Given the description of an element on the screen output the (x, y) to click on. 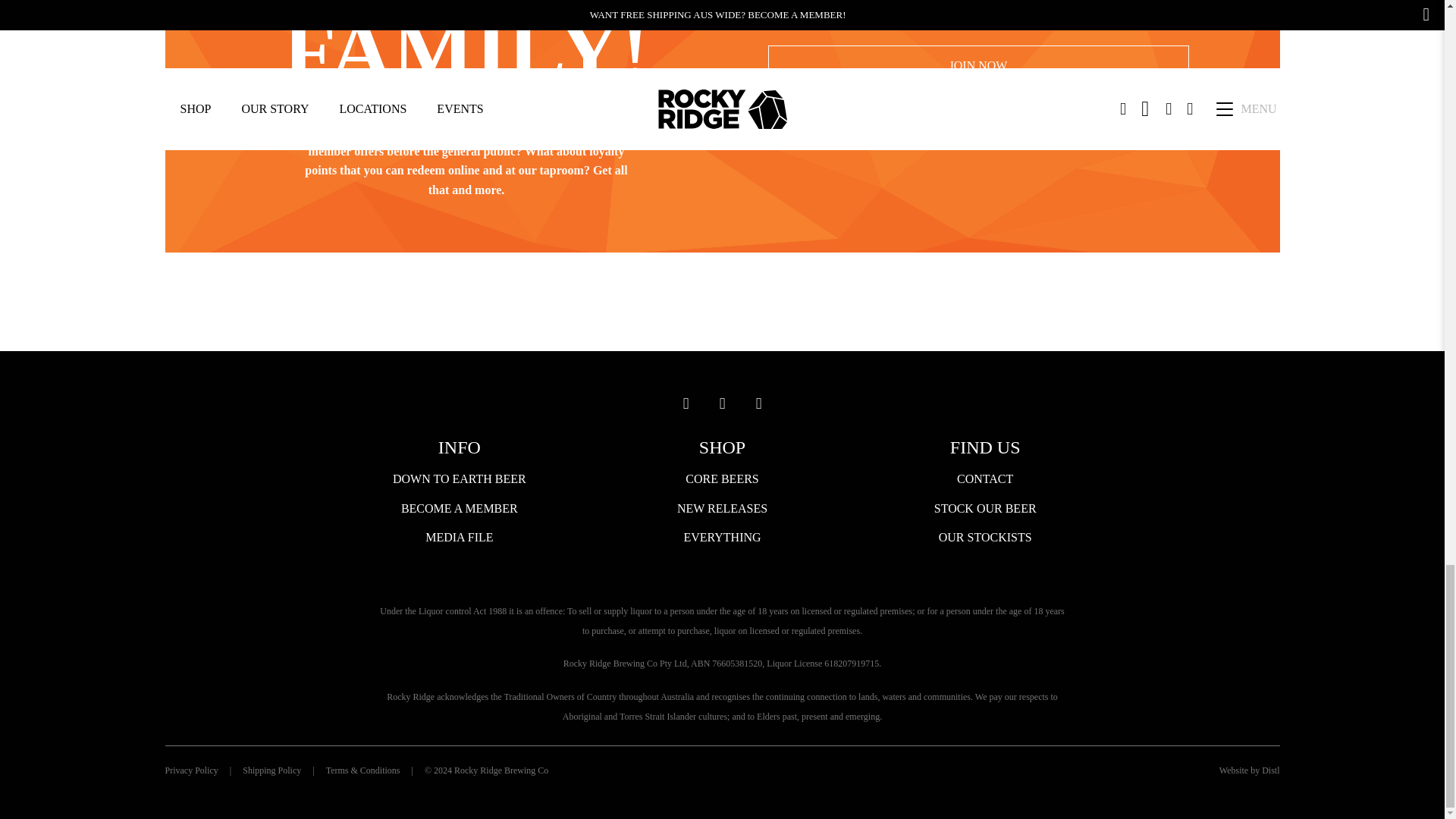
facebook (721, 403)
instagram (684, 403)
twitter (757, 403)
